Given the description of an element on the screen output the (x, y) to click on. 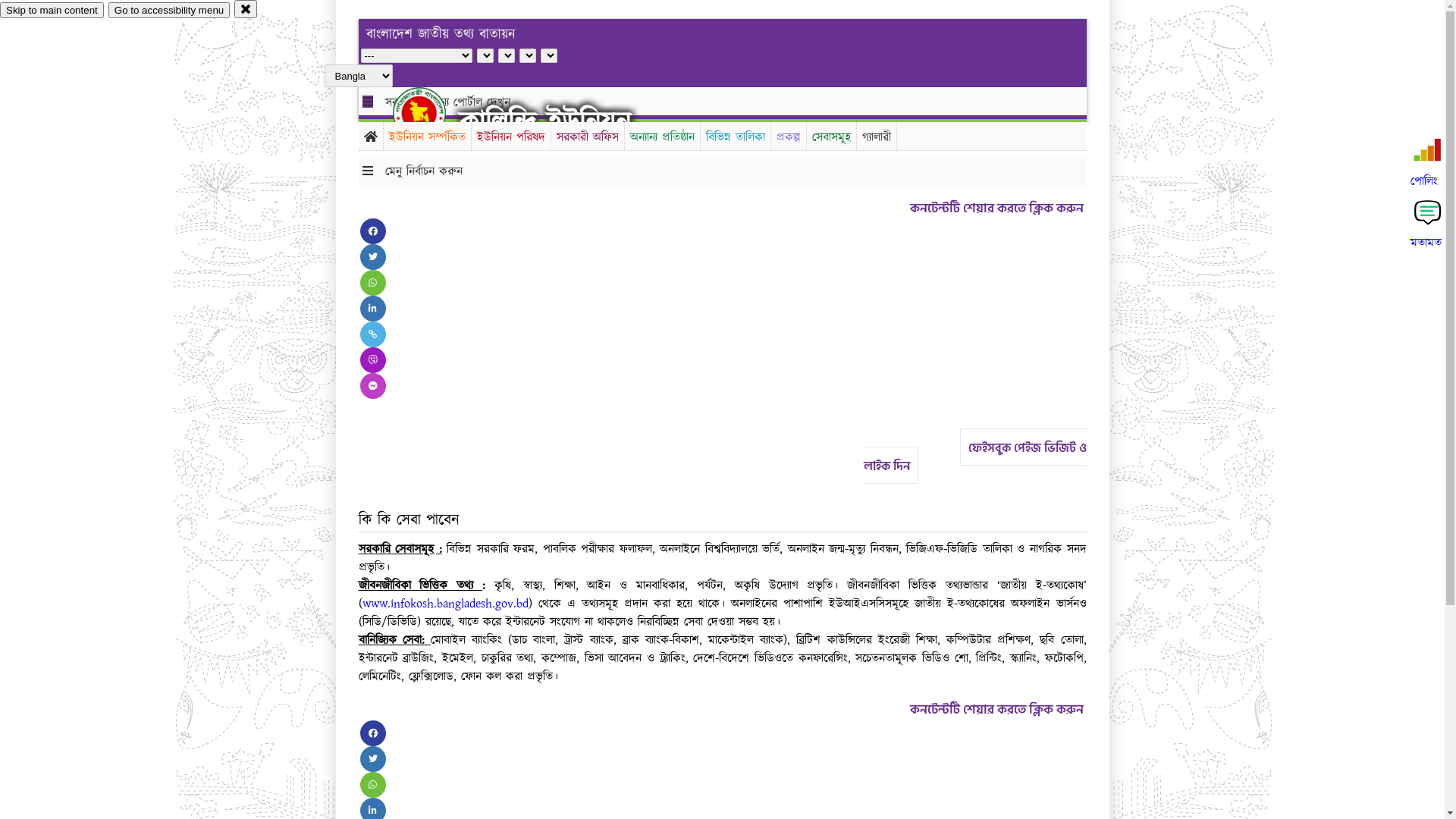

                
             Element type: hover (431, 112)
www.infokosh.bangladesh.gov.bd Element type: text (445, 603)
close Element type: hover (245, 9)
Skip to main content Element type: text (51, 10)
Go to accessibility menu Element type: text (168, 10)
